Given the description of an element on the screen output the (x, y) to click on. 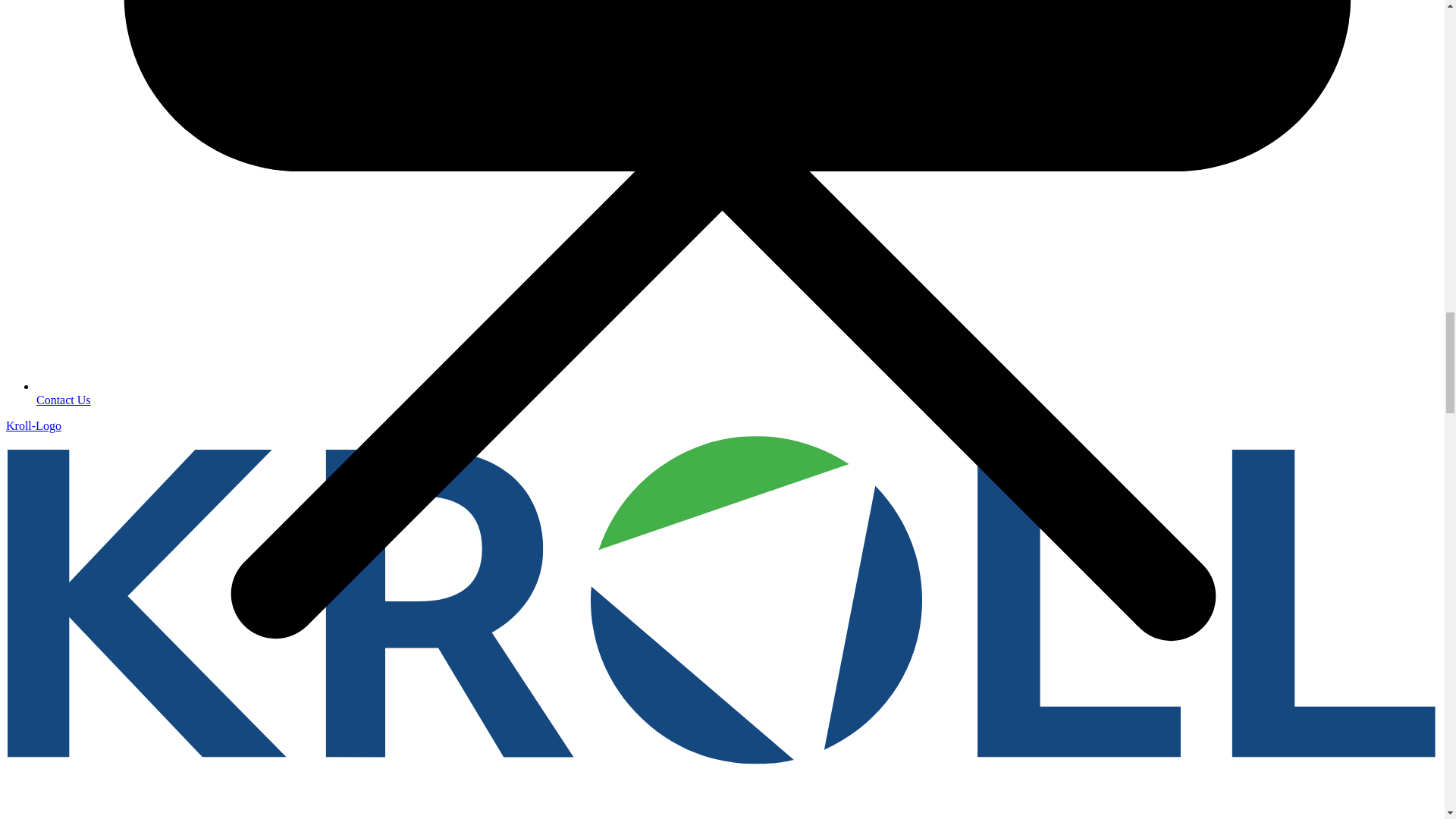
Contact Us (63, 399)
Send Message (63, 399)
